Given the description of an element on the screen output the (x, y) to click on. 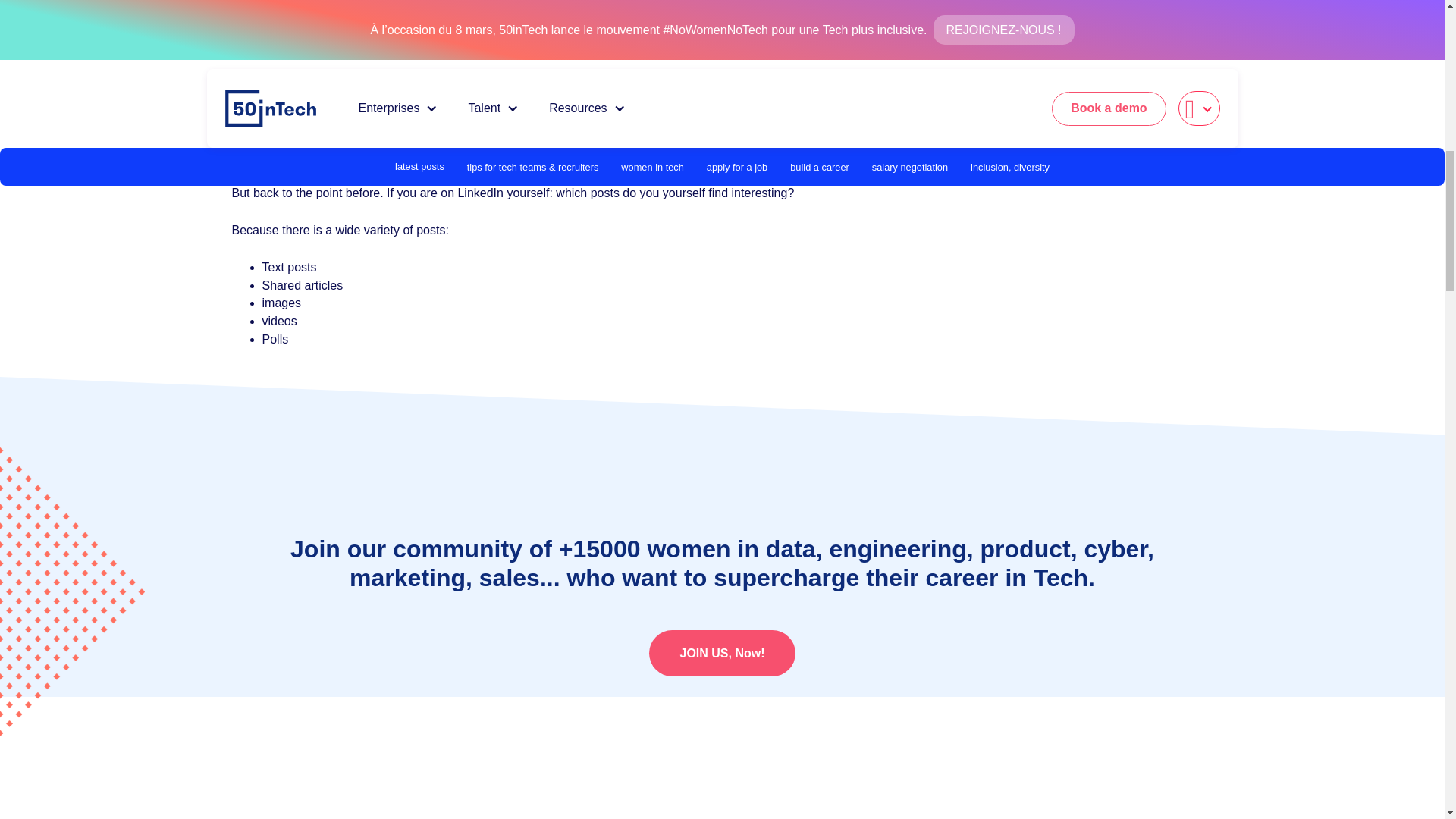
How you can do that, we have written down here for you. (384, 77)
JOIN US, Now! (721, 652)
